Given the description of an element on the screen output the (x, y) to click on. 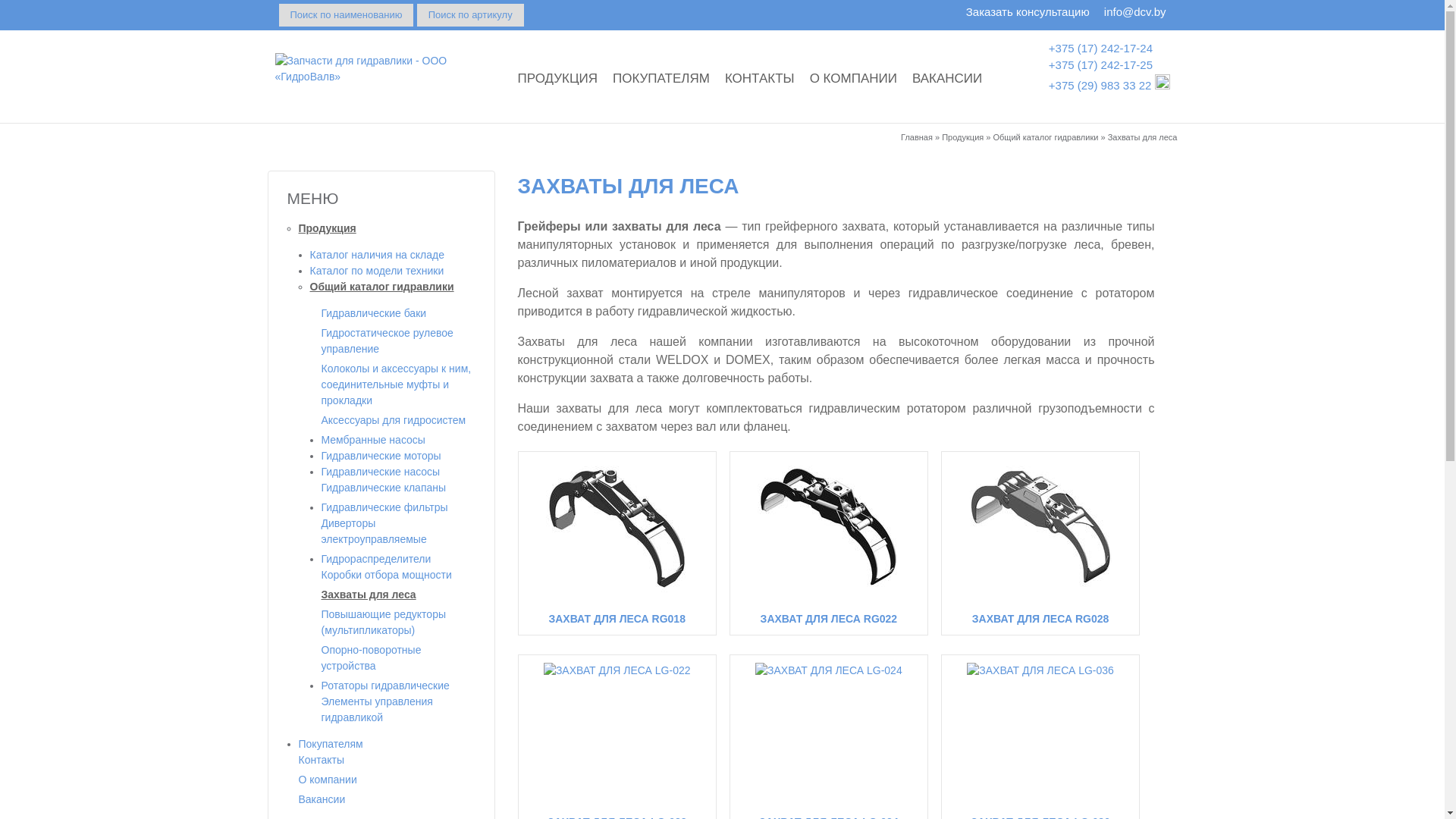
info@dcv.by Element type: text (1135, 11)
+375 (17) 242-17-25 Element type: text (1100, 64)
+375 (29) 983 33 22 Element type: text (1099, 84)
+375 (17) 242-17-24 Element type: text (1100, 46)
